Given the description of an element on the screen output the (x, y) to click on. 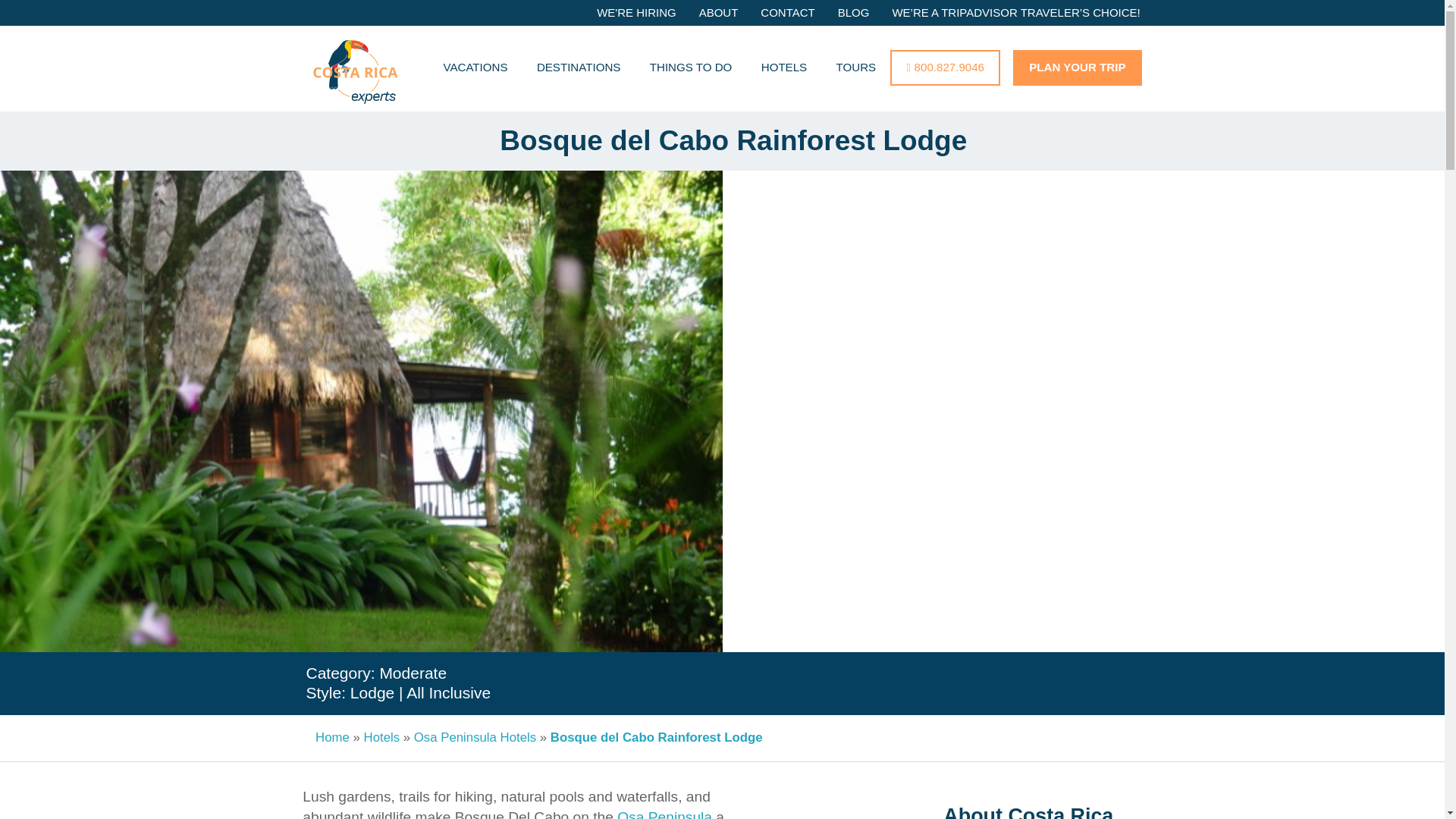
Costa Rica Vacations for 35 Years (355, 77)
BLOG (853, 13)
Osa Peninsula (664, 814)
CONTACT (787, 13)
WE'RE HIRING (636, 13)
DESTINATIONS (578, 67)
ABOUT (718, 13)
VACATIONS (474, 67)
